Given the description of an element on the screen output the (x, y) to click on. 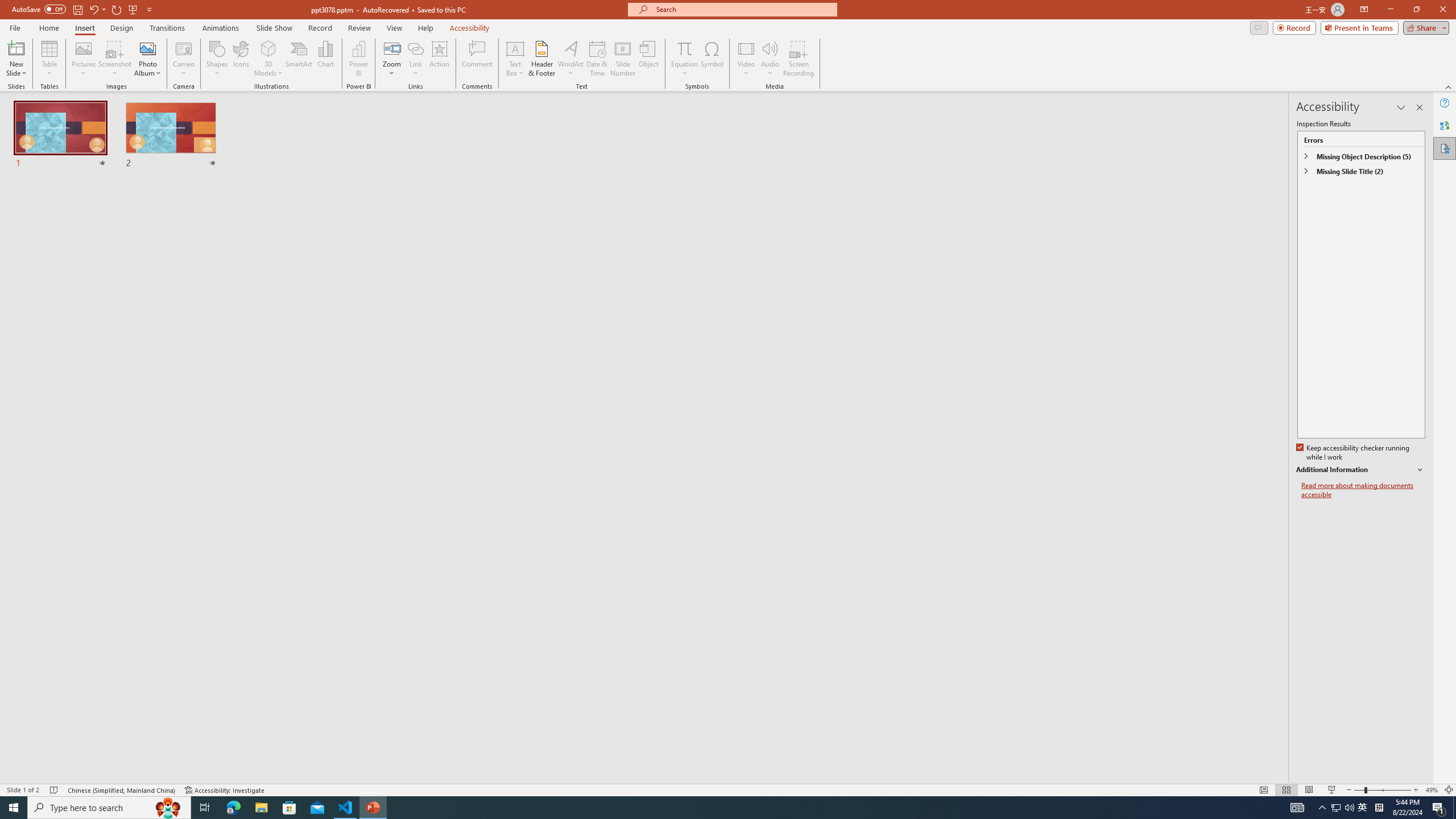
Screen Recording... (798, 58)
Icons (240, 58)
WordArt (570, 58)
Equation (683, 58)
Slide Number (622, 58)
Date & Time... (596, 58)
